Given the description of an element on the screen output the (x, y) to click on. 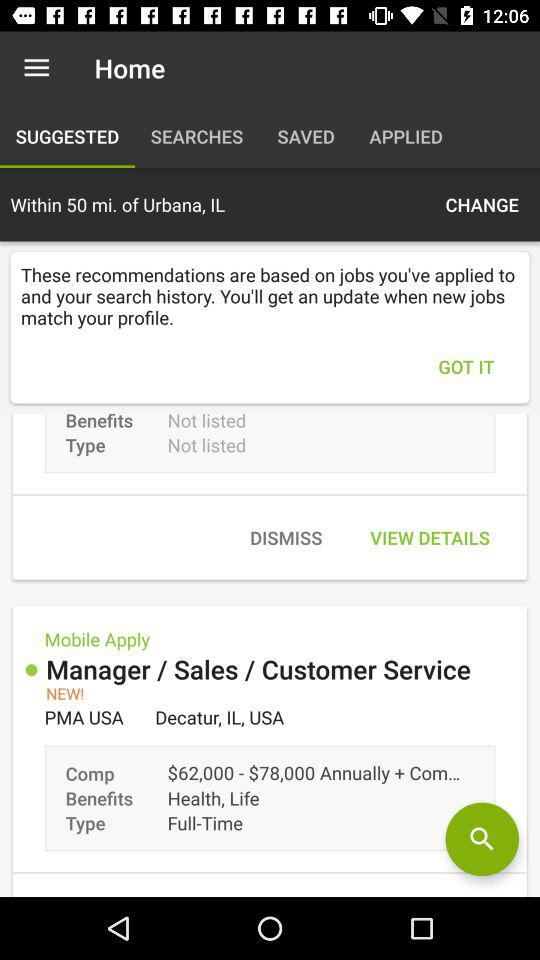
search (482, 839)
